Given the description of an element on the screen output the (x, y) to click on. 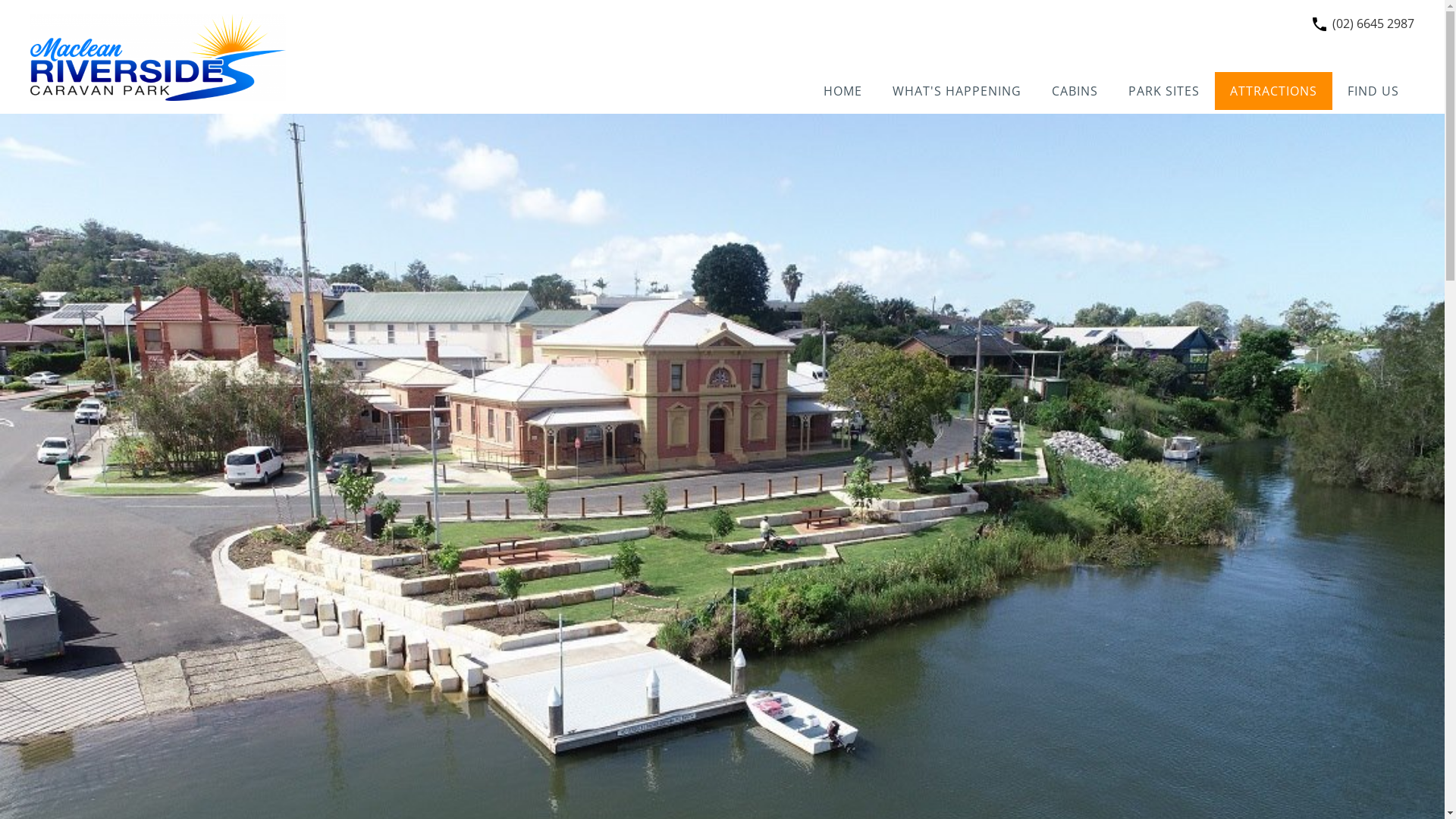
CABINS Element type: text (1074, 90)
WHAT'S HAPPENING Element type: text (956, 90)
ATTRACTIONS Element type: text (1273, 90)
FIND US Element type: text (1373, 90)
PARK SITES Element type: text (1163, 90)
(02) 6645 2987 Element type: text (1373, 23)
HOME Element type: text (842, 90)
